Given the description of an element on the screen output the (x, y) to click on. 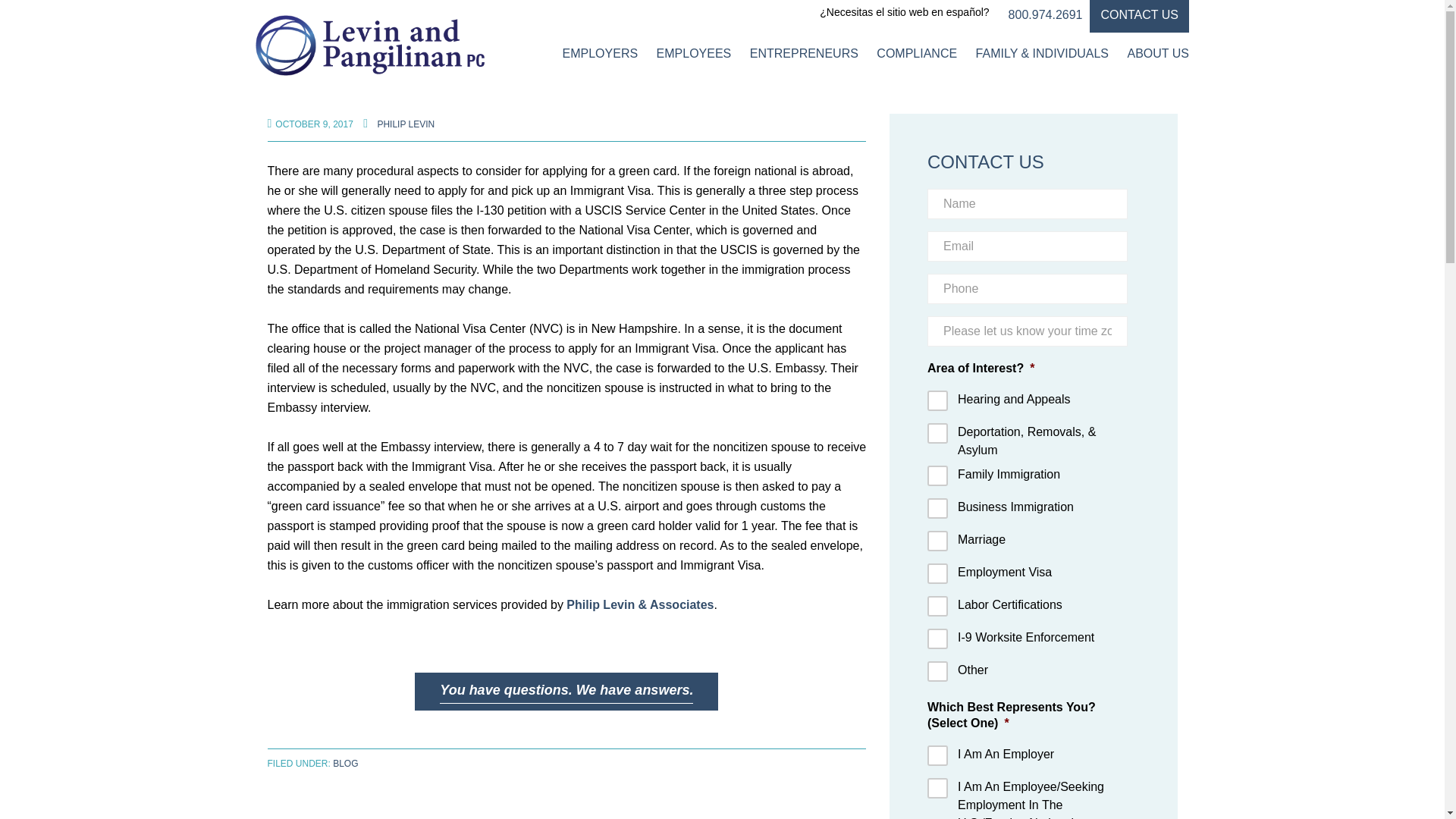
Posts by Philip Levin (406, 124)
